Given the description of an element on the screen output the (x, y) to click on. 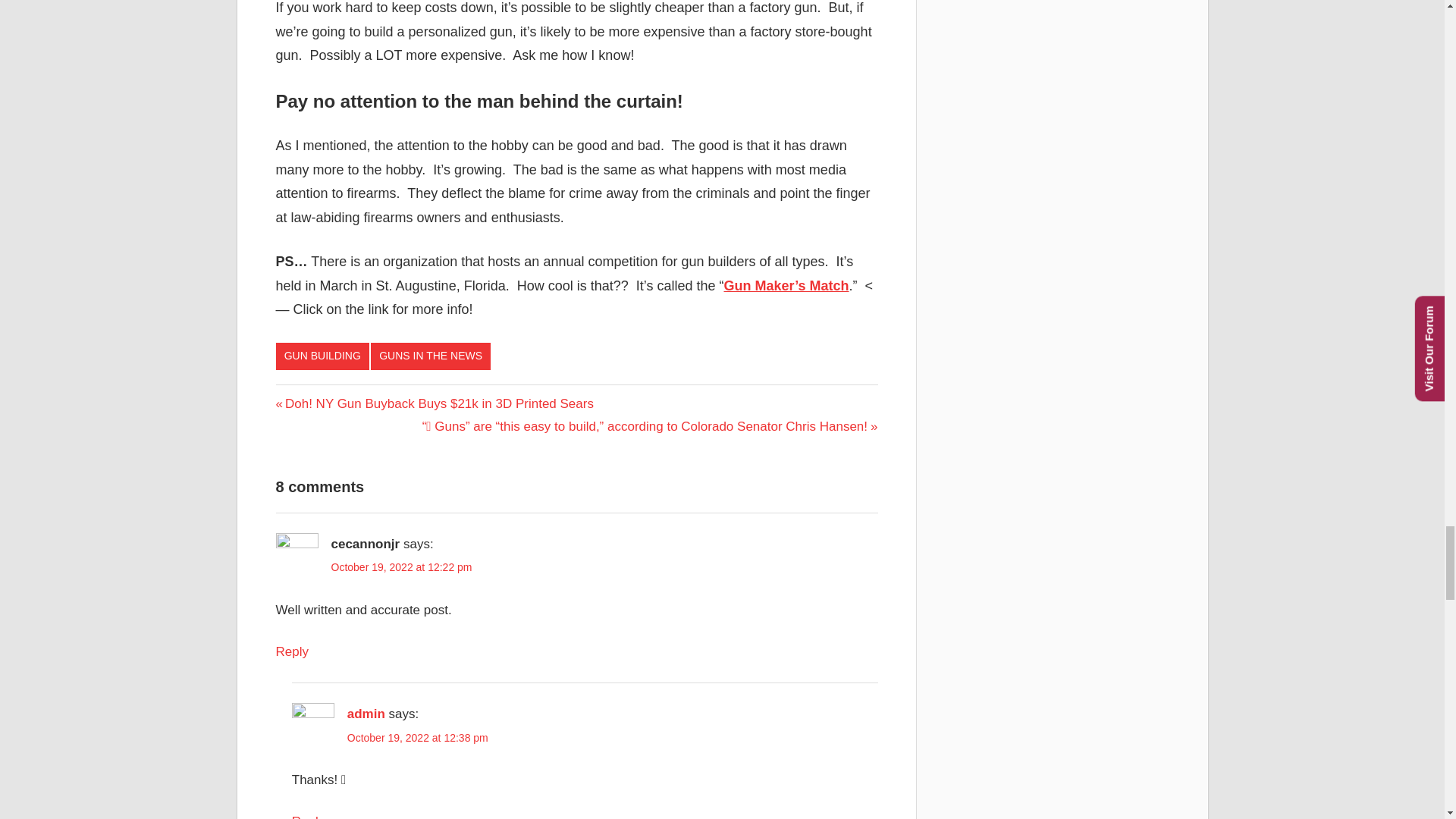
GUNS IN THE NEWS (430, 356)
admin (366, 713)
October 19, 2022 at 12:22 pm (400, 567)
Reply (308, 816)
GUN BUILDING (322, 356)
Reply (292, 651)
October 19, 2022 at 12:38 pm (417, 737)
